Given the description of an element on the screen output the (x, y) to click on. 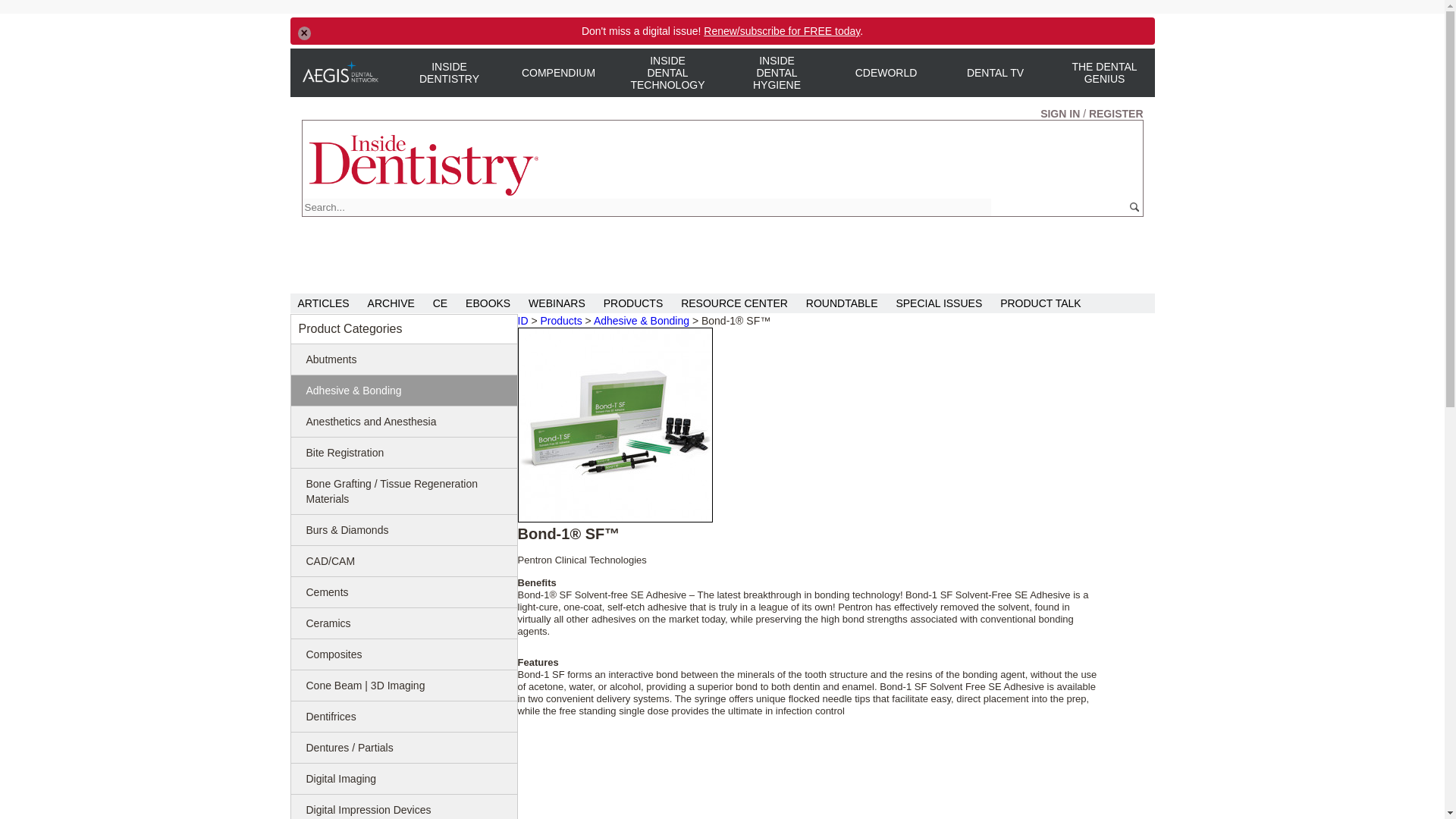
3rd party ad content (577, 251)
